Given the description of an element on the screen output the (x, y) to click on. 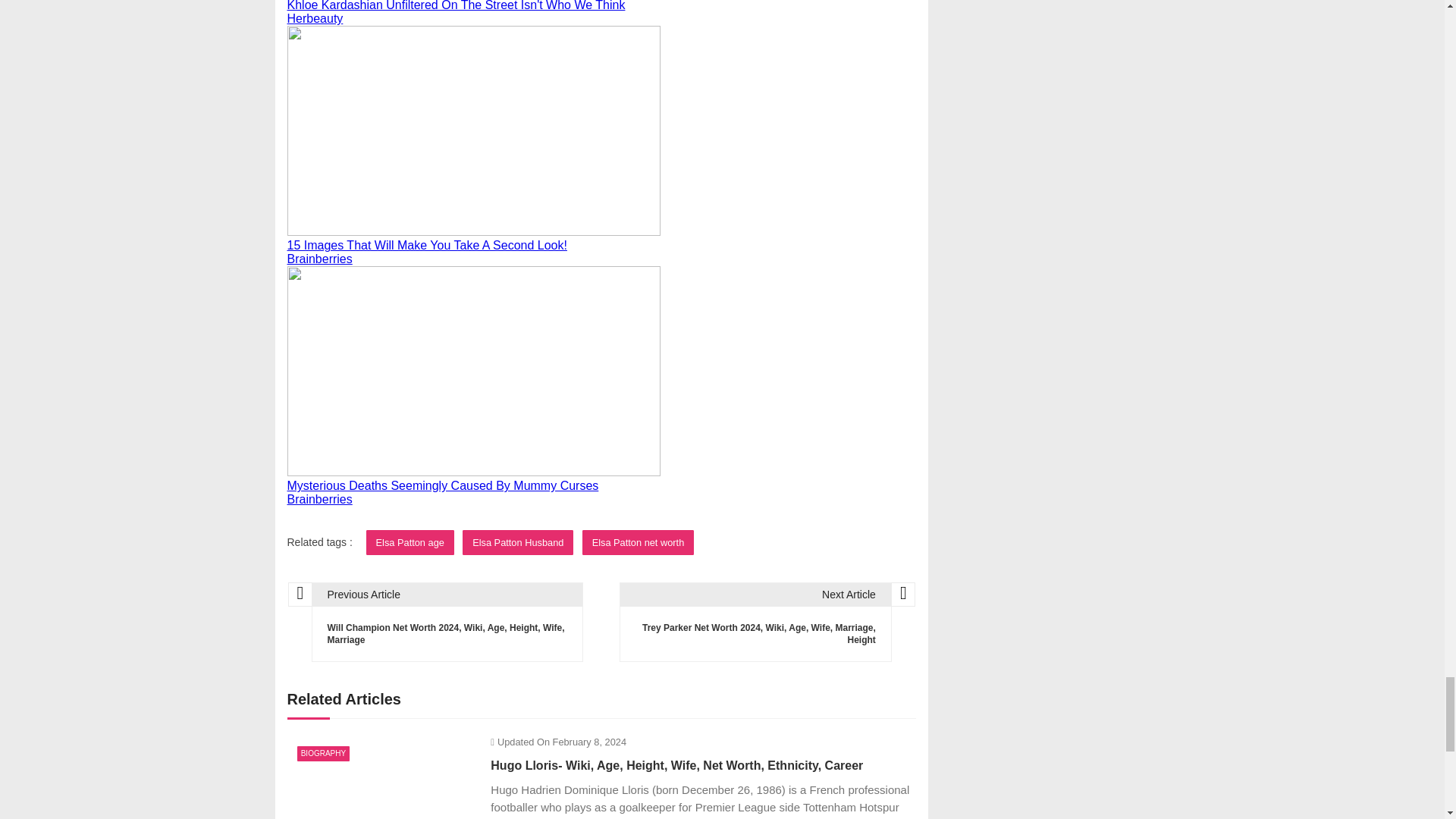
Elsa Patton Husband (518, 542)
Elsa Patton age (410, 542)
Elsa Patton net worth (638, 542)
BIOGRAPHY (323, 753)
